Given the description of an element on the screen output the (x, y) to click on. 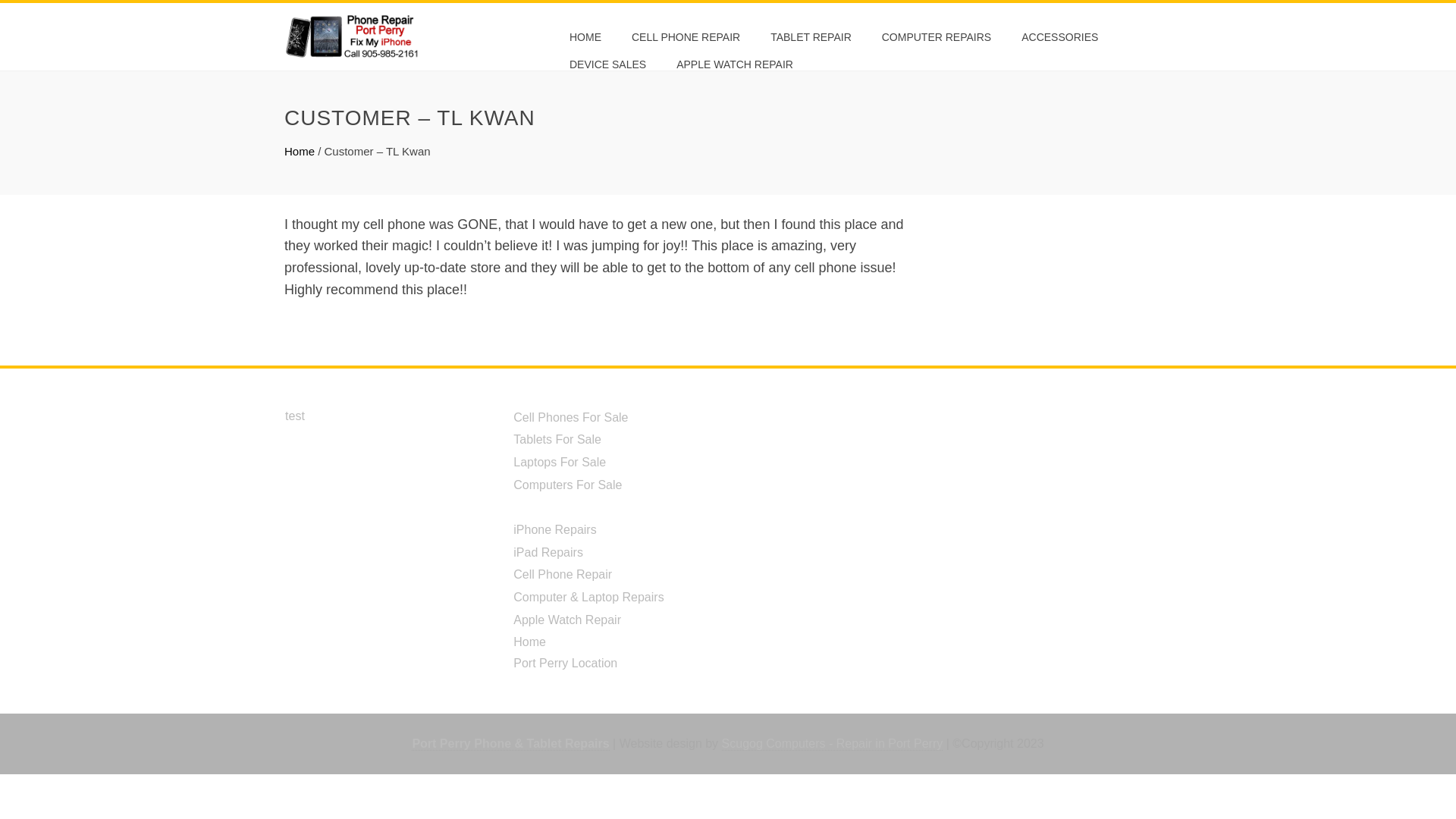
CELL PHONE REPAIR (685, 36)
Port Perry Location (565, 662)
Repair in Port Perry (832, 744)
Cell Phones For Sale (570, 417)
COMPUTER REPAIRS (936, 36)
TABLET REPAIR (810, 36)
iPhone Repairs (554, 529)
Computers For Sale (567, 484)
DEVICE SALES (607, 63)
Laptops For Sale (559, 461)
